Given the description of an element on the screen output the (x, y) to click on. 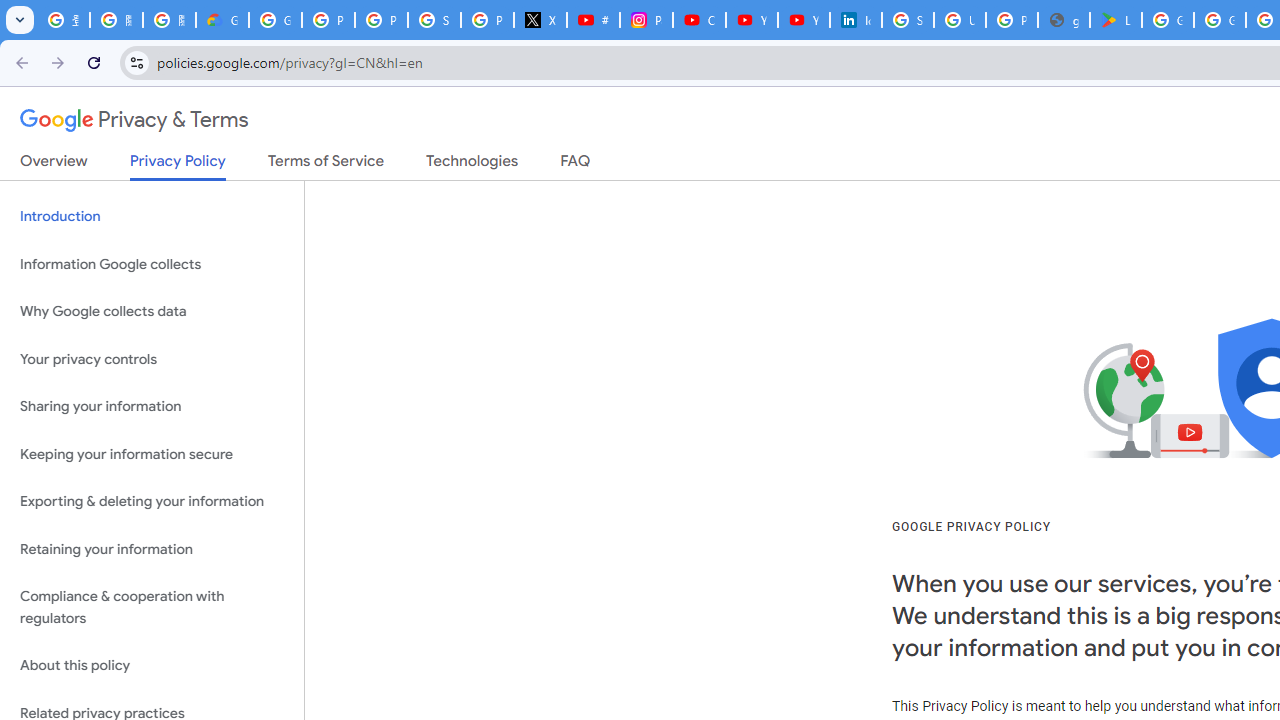
Sign in - Google Accounts (907, 20)
Sign in - Google Accounts (434, 20)
